Given the description of an element on the screen output the (x, y) to click on. 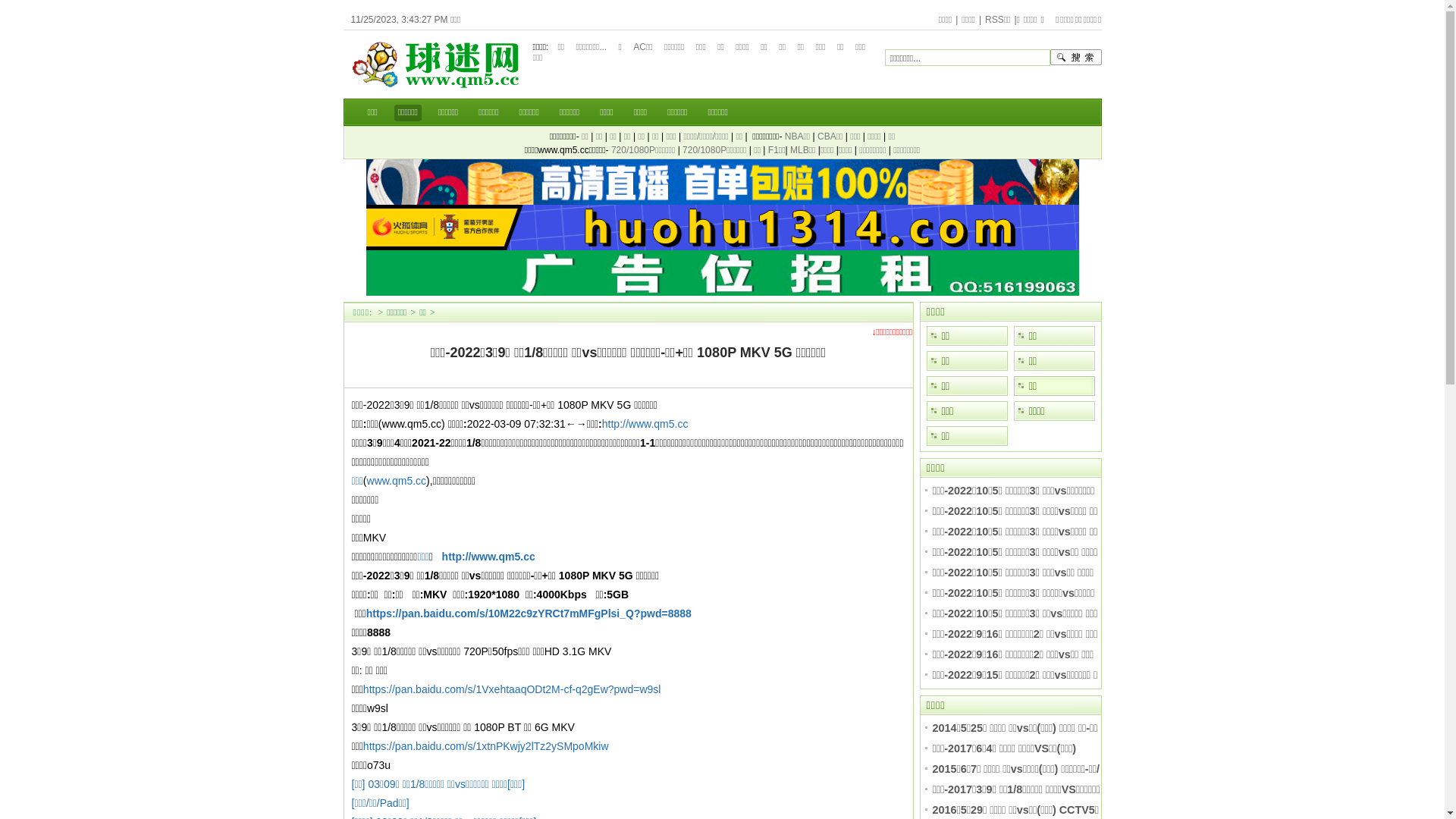
https://pan.baidu.com/s/1xtnPKwjy2lTz2ySMpoMkiw Element type: text (485, 746)
http://www.qm5.cc Element type: text (488, 556)
https://pan.baidu.com/s/10M22c9zYRCt7mMFgPlsi_Q?pwd=8888 Element type: text (528, 613)
https://pan.baidu.com/s/1VxehtaaqODt2M-cf-q2gEw?pwd=w9sl Element type: text (512, 689)
http://www.qm5.cc Element type: text (645, 423)
www.qm5.cc Element type: text (396, 480)
